Given the description of an element on the screen output the (x, y) to click on. 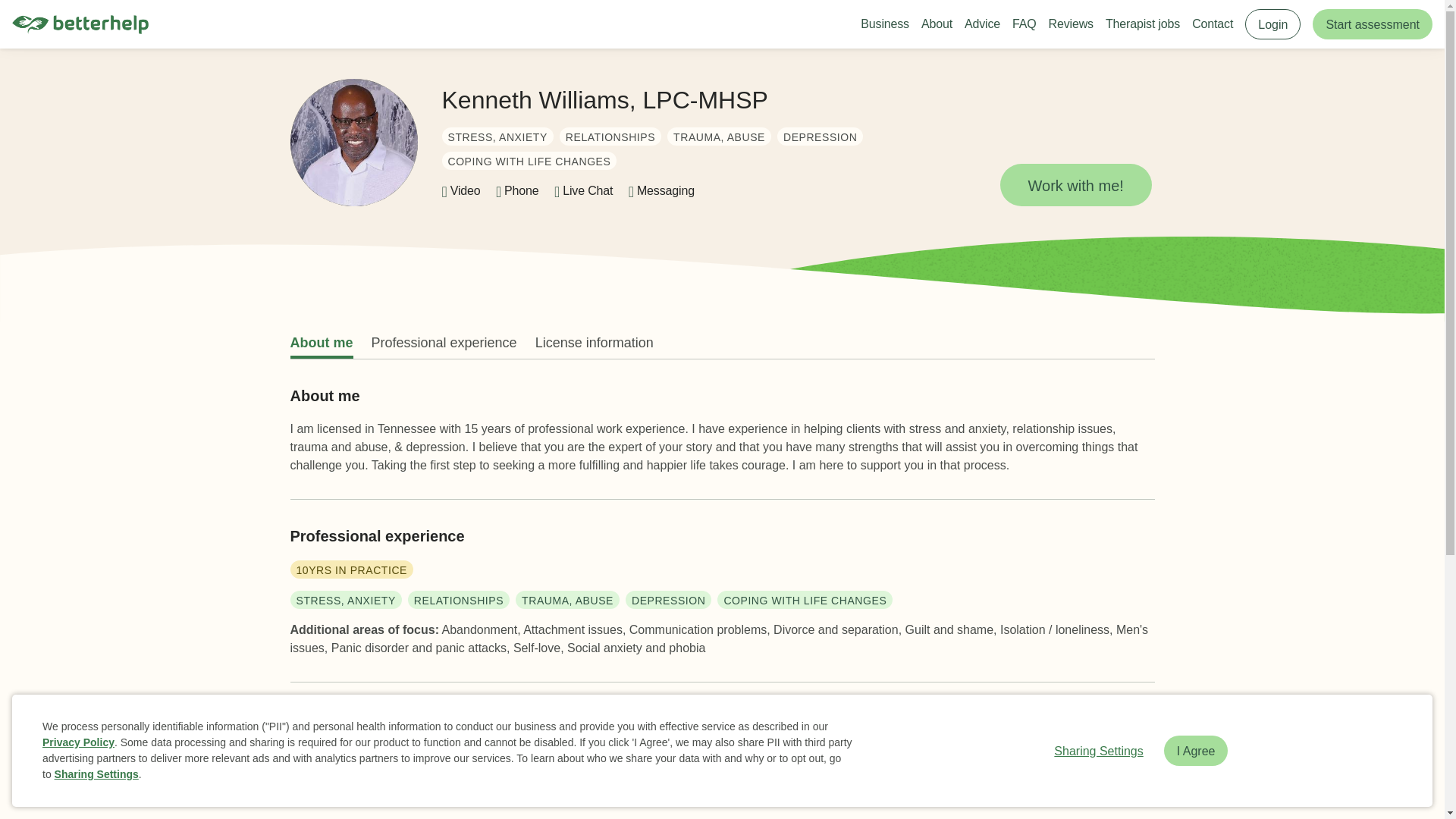
License information (594, 342)
About me (320, 342)
I Agree (1195, 750)
Reviews (1070, 24)
Sharing Settings (96, 774)
Therapist jobs (1142, 24)
Privacy Policy (78, 742)
Start assessment (1372, 24)
Sharing Settings (1098, 750)
Professional experience (443, 342)
Business (884, 24)
Login (1272, 24)
Work with me! (1074, 184)
